Given the description of an element on the screen output the (x, y) to click on. 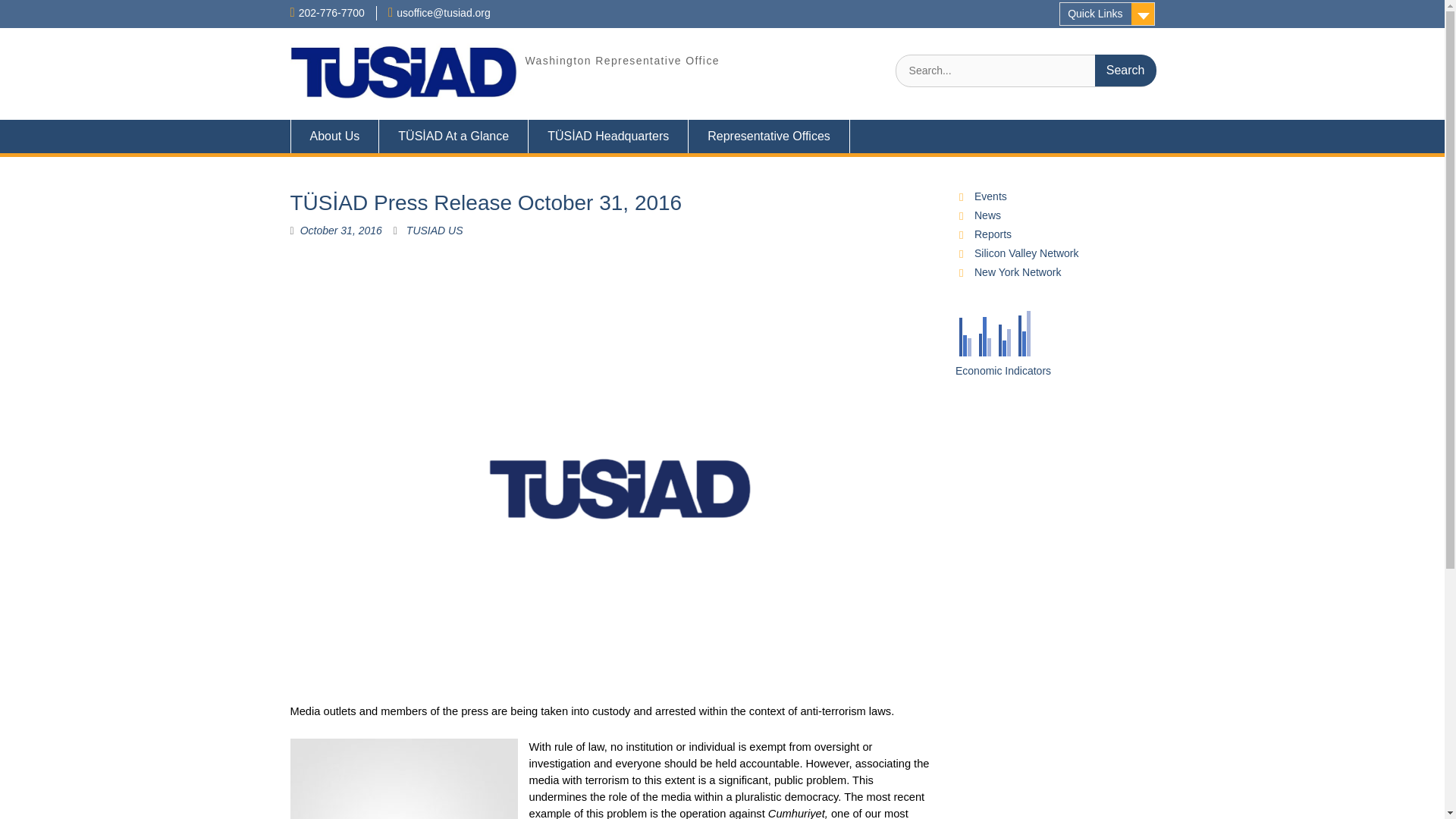
Search for: (1025, 70)
Reports (992, 234)
New York Network (1017, 272)
News (987, 215)
Search (1125, 70)
October 31, 2016 (340, 230)
202-776-7700 (331, 12)
Quick Links (1106, 13)
TUSIAD US (434, 230)
Search (1125, 70)
